Given the description of an element on the screen output the (x, y) to click on. 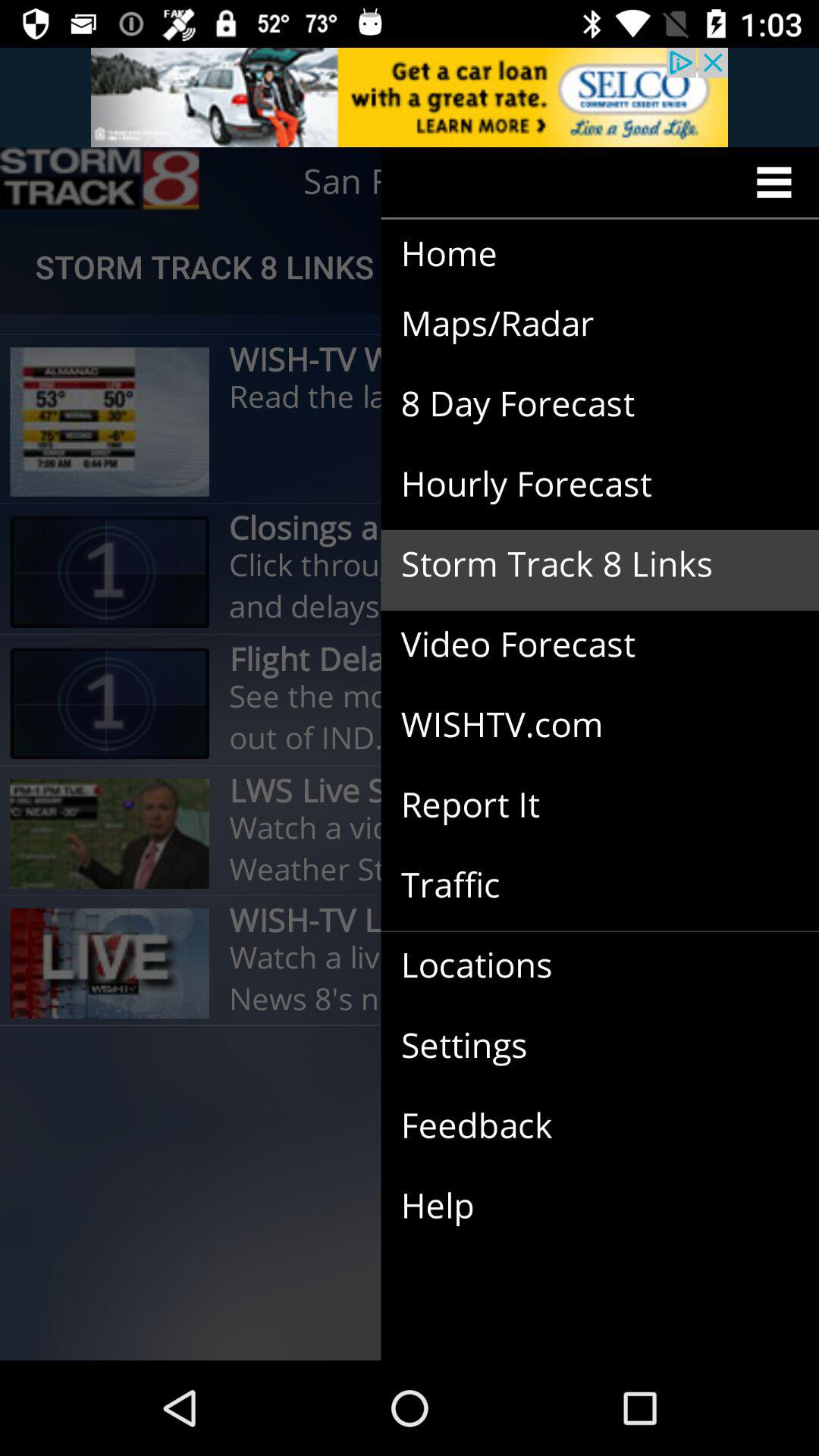
click the first image below storm track 8 links (109, 421)
click menu icon (778, 181)
